Given the description of an element on the screen output the (x, y) to click on. 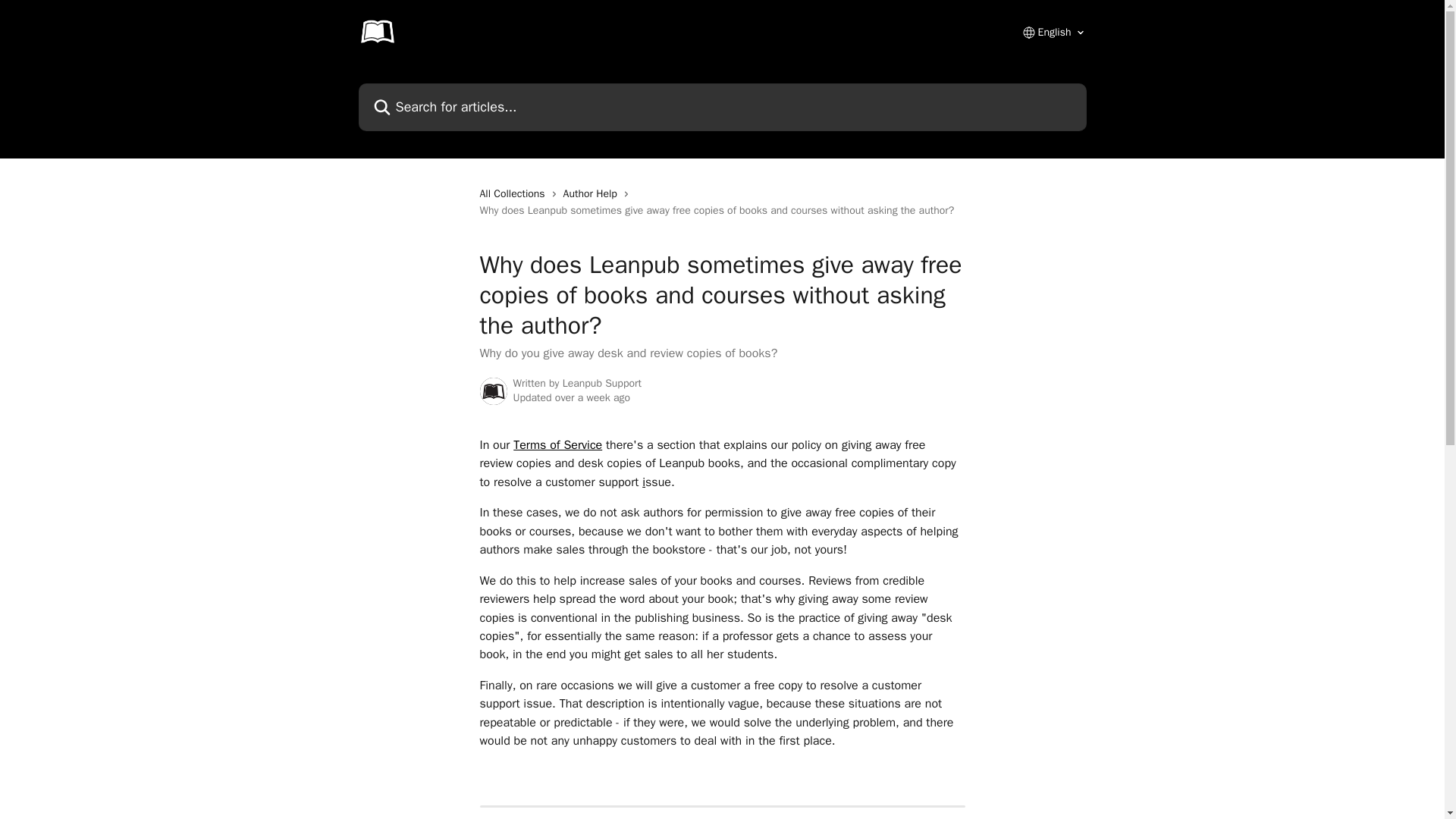
Terms of Service (557, 444)
Author Help (593, 193)
All Collections (514, 193)
